Given the description of an element on the screen output the (x, y) to click on. 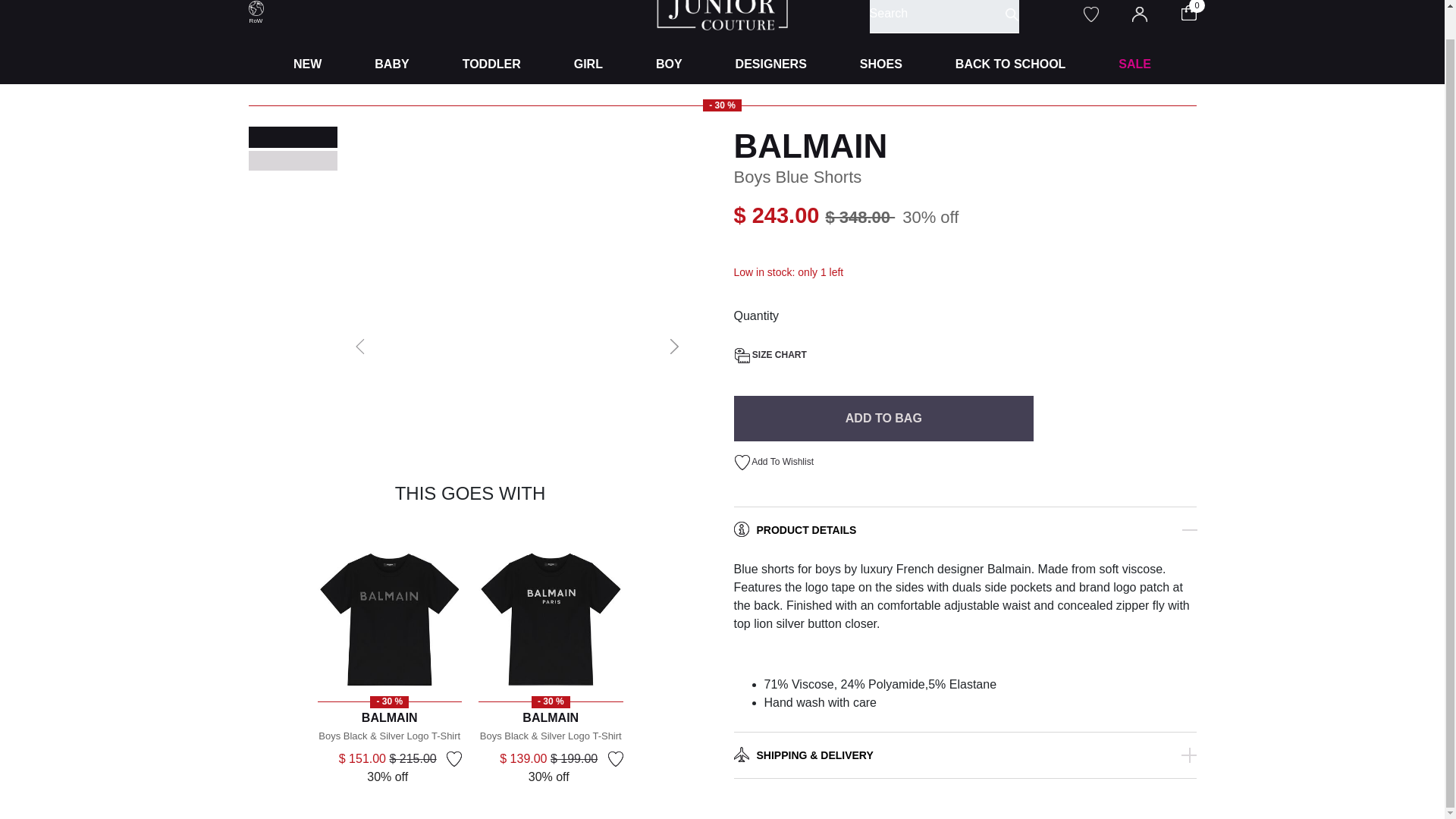
Cart 0 Items (1197, 11)
Juniour Couture Home (721, 6)
0 (1197, 11)
BABY (391, 64)
